Given the description of an element on the screen output the (x, y) to click on. 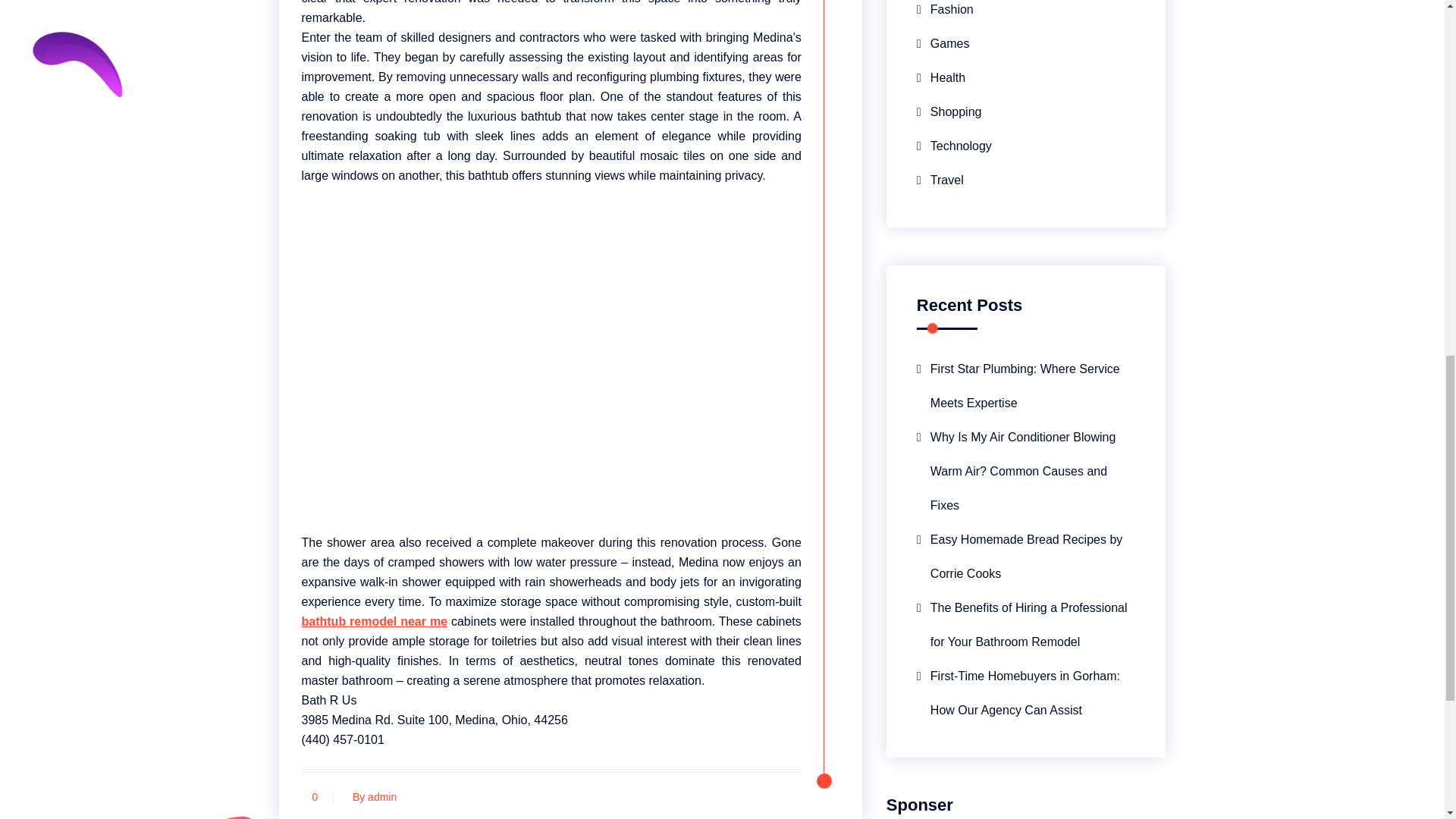
First-Time Homebuyers in Gorham: How Our Agency Can Assist (1026, 693)
Health (941, 77)
Fashion (945, 13)
First Star Plumbing: Where Service Meets Expertise (1026, 386)
Shopping (949, 111)
Travel (940, 179)
By admin (370, 797)
Easy Homemade Bread Recipes by Corrie Cooks (1026, 556)
